Given the description of an element on the screen output the (x, y) to click on. 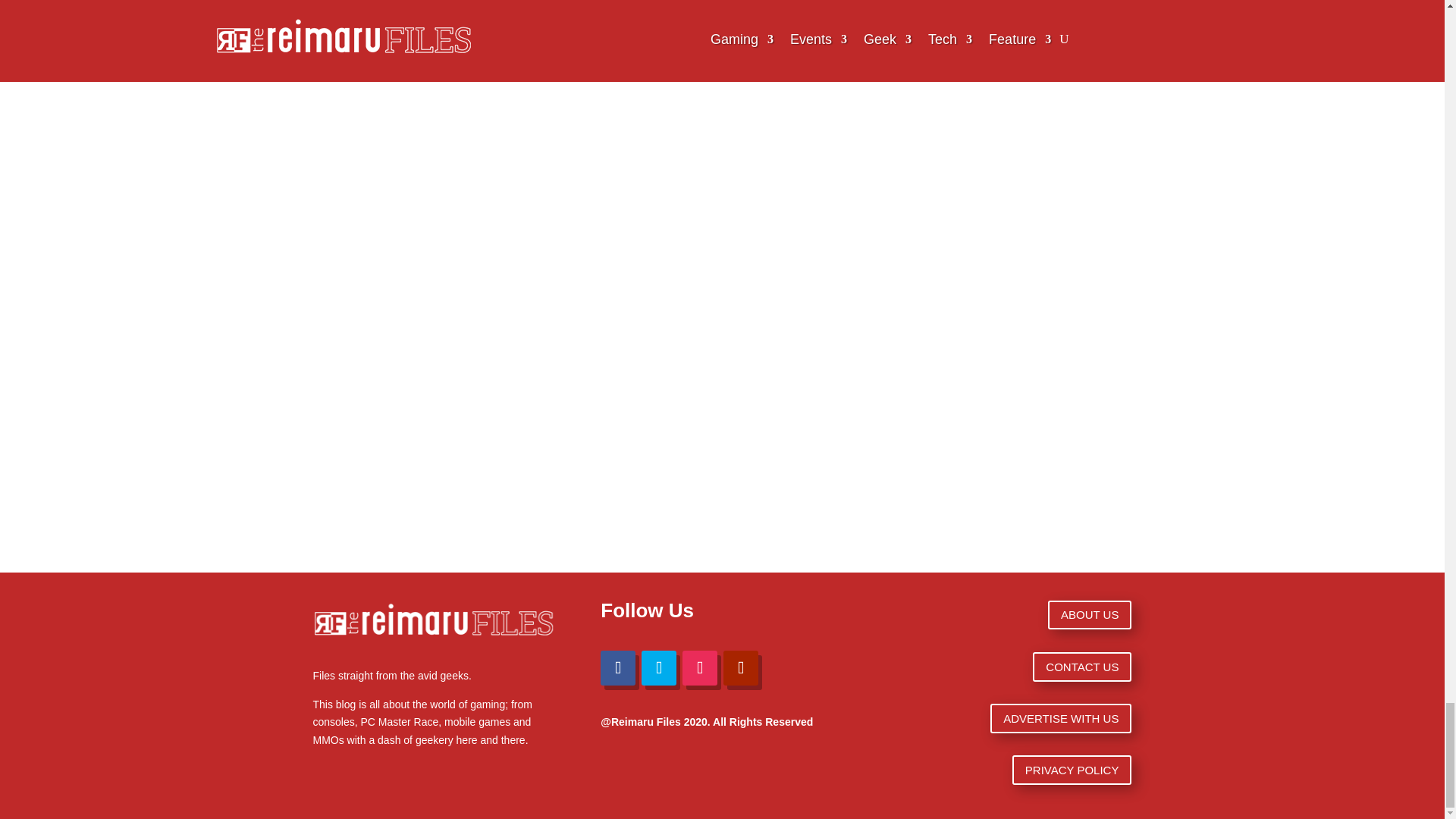
Follow on Youtube (740, 667)
reimarufiles-2014-white-tr-2 (433, 622)
Follow on Instagram (699, 667)
Follow on Facebook (616, 667)
Follow on Twitter (659, 667)
